Given the description of an element on the screen output the (x, y) to click on. 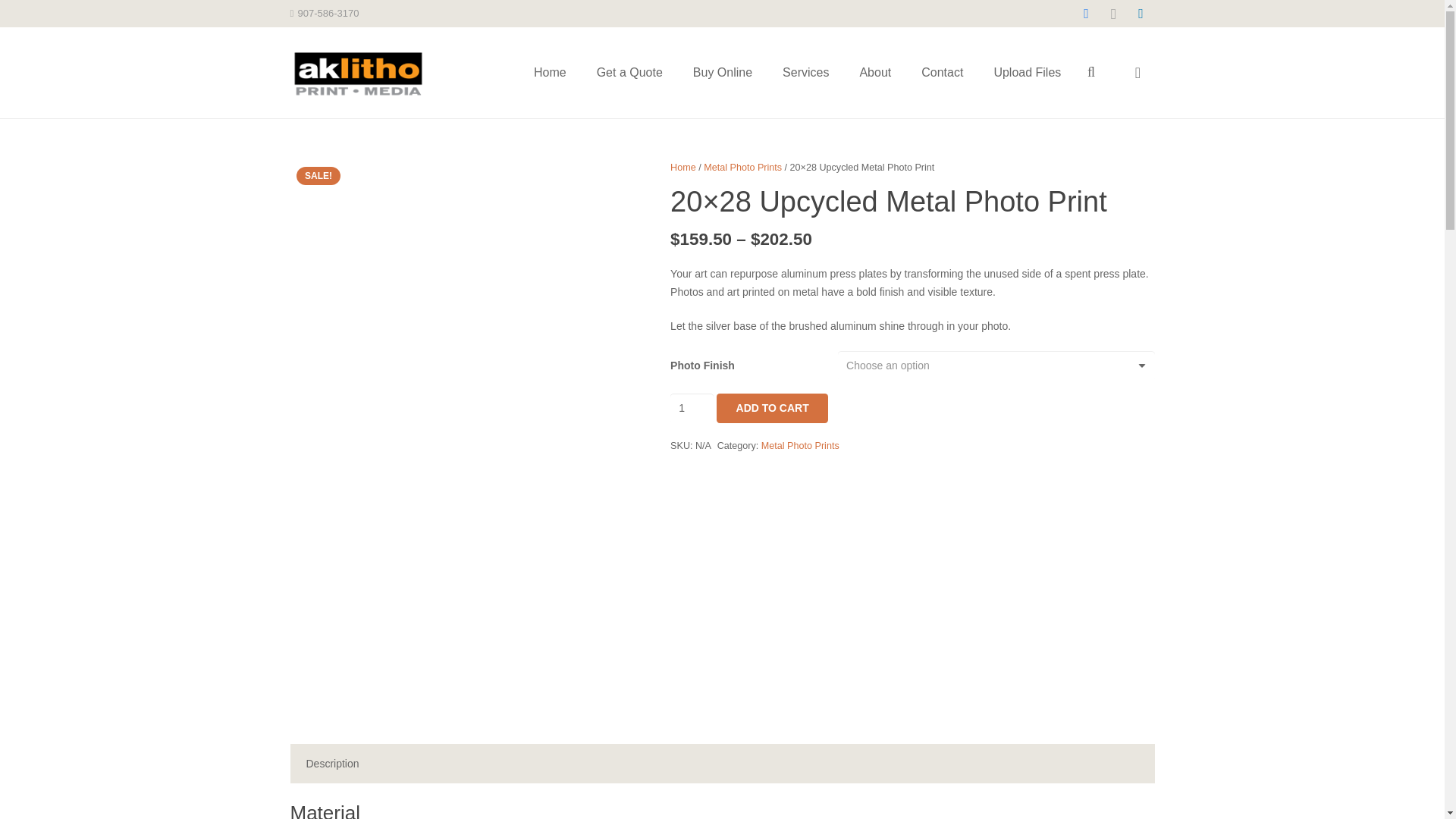
Home (682, 167)
Facebook (1085, 13)
ADD TO CART (772, 408)
Get a Quote (629, 72)
Upload Files (1026, 72)
Metal Photo Prints (742, 167)
1 (691, 408)
Buy Online (722, 72)
Instagram (1112, 13)
LinkedIn (1140, 13)
